Given the description of an element on the screen output the (x, y) to click on. 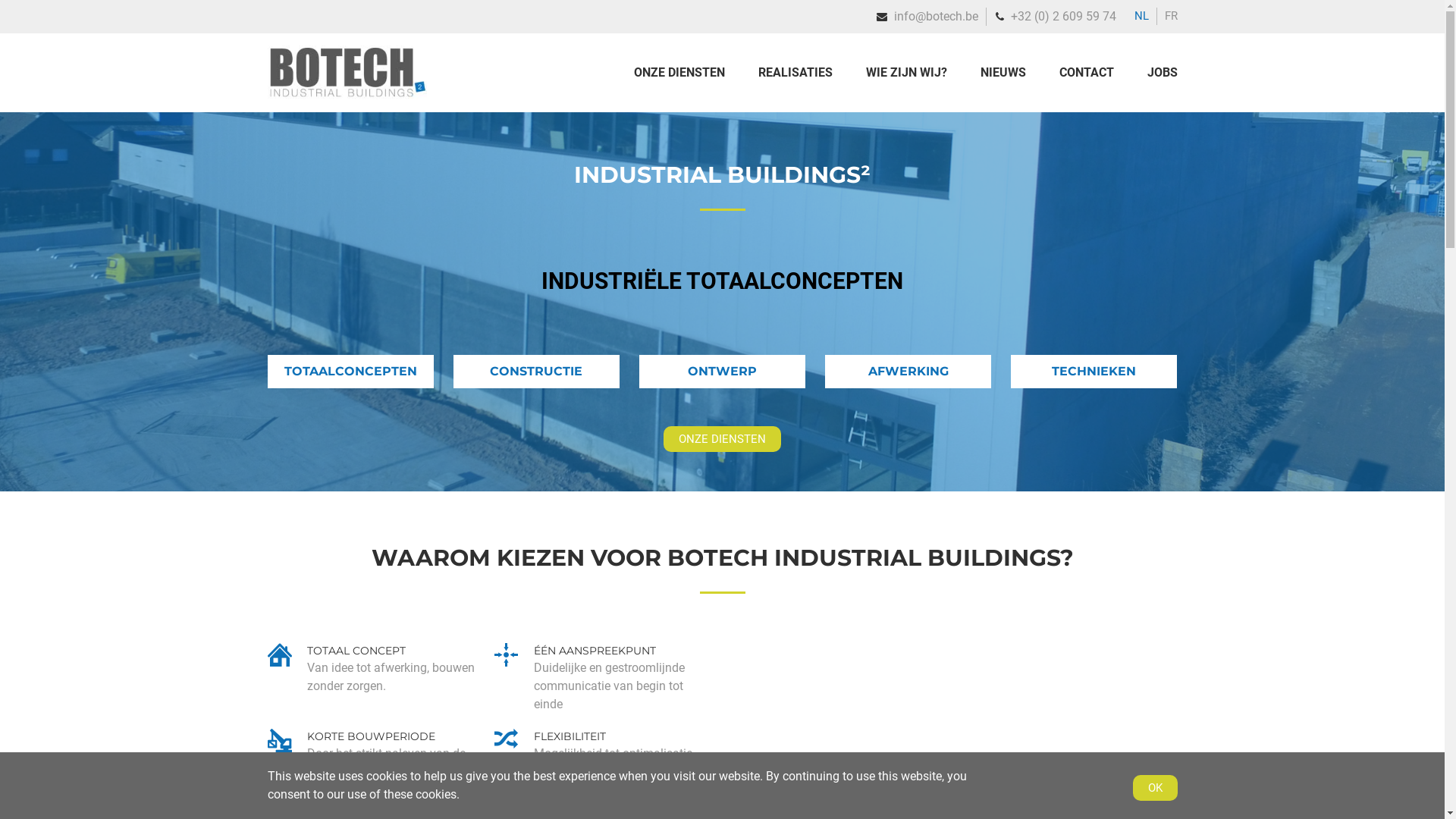
JOBS Element type: text (1153, 72)
Home Element type: hover (346, 94)
+32 (0) 2 609 59 74 Element type: text (1062, 16)
REALISATIES Element type: text (795, 72)
ONZE DIENSTEN Element type: text (686, 72)
AFWERKING Element type: text (908, 371)
CONSTRUCTIE Element type: text (536, 371)
NIEUWS Element type: text (1002, 72)
CONTACT Element type: text (1085, 72)
ONTWERP Element type: text (722, 371)
TECHNIEKEN Element type: text (1093, 371)
TOTAALCONCEPTEN Element type: text (349, 371)
NL Element type: text (1141, 15)
info@botech.be Element type: text (935, 16)
WIE ZIJN WIJ? Element type: text (906, 72)
ONZE DIENSTEN Element type: text (722, 438)
Ok Element type: text (1154, 787)
Toepassen Element type: text (47, 12)
FR Element type: text (1170, 15)
